Given the description of an element on the screen output the (x, y) to click on. 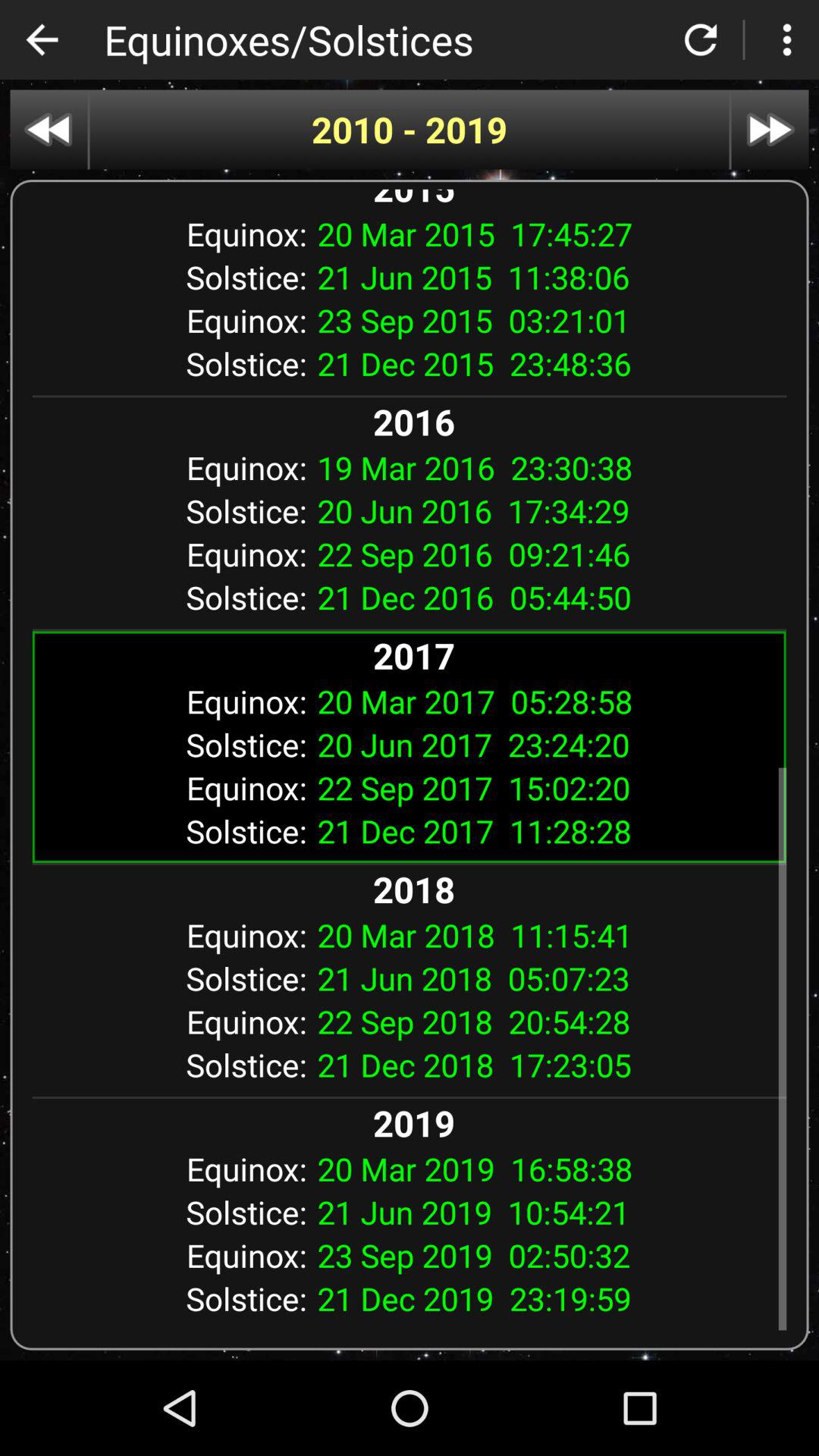
go forward (769, 129)
